Given the description of an element on the screen output the (x, y) to click on. 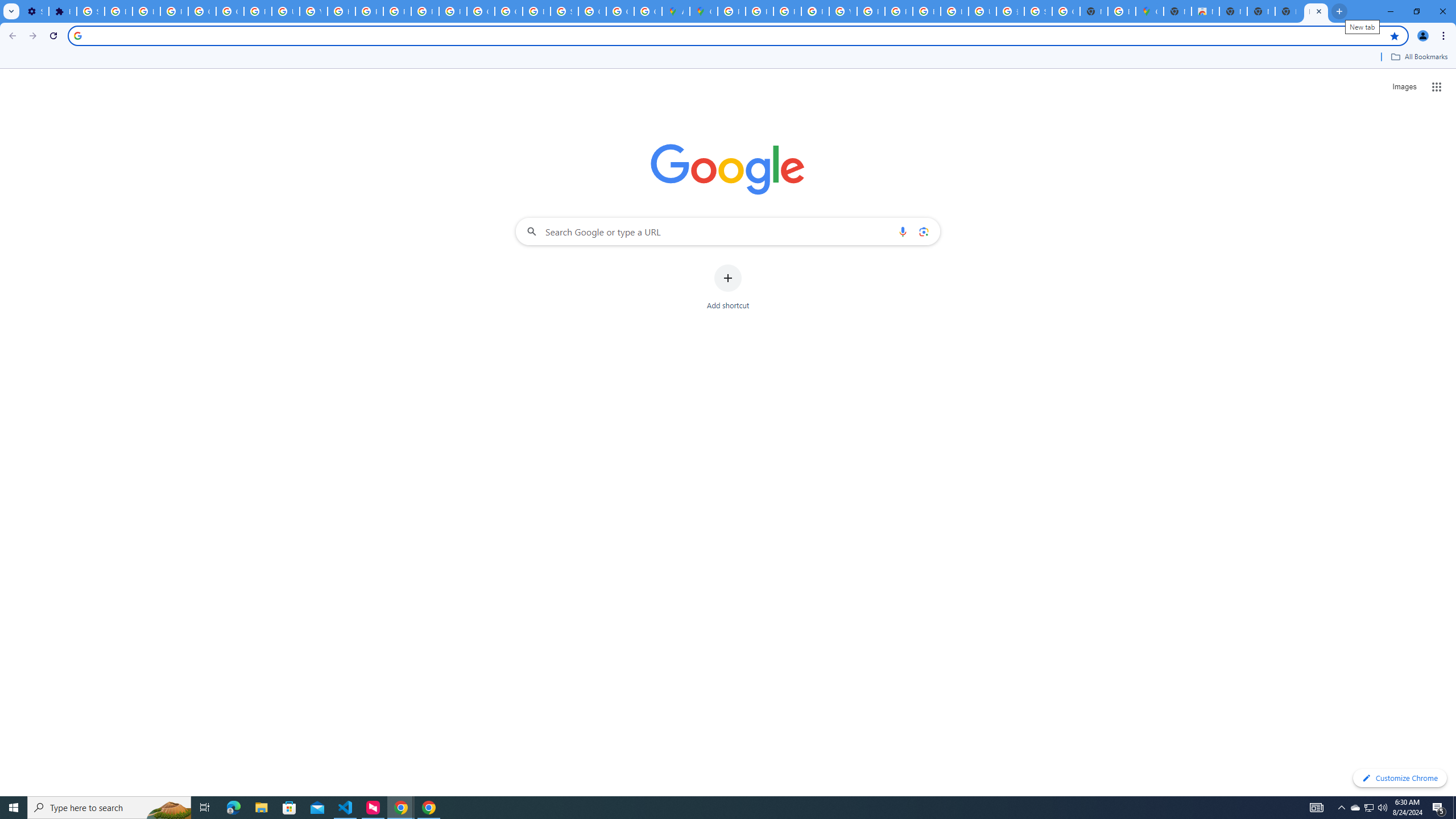
Learn how to find your photos - Google Photos Help (146, 11)
Bookmarks (728, 58)
Google Account Help (202, 11)
New Tab (1316, 11)
Policy Accountability and Transparency - Transparency Center (731, 11)
Delete photos & videos - Computer - Google Photos Help (118, 11)
Search by voice (902, 230)
